Given the description of an element on the screen output the (x, y) to click on. 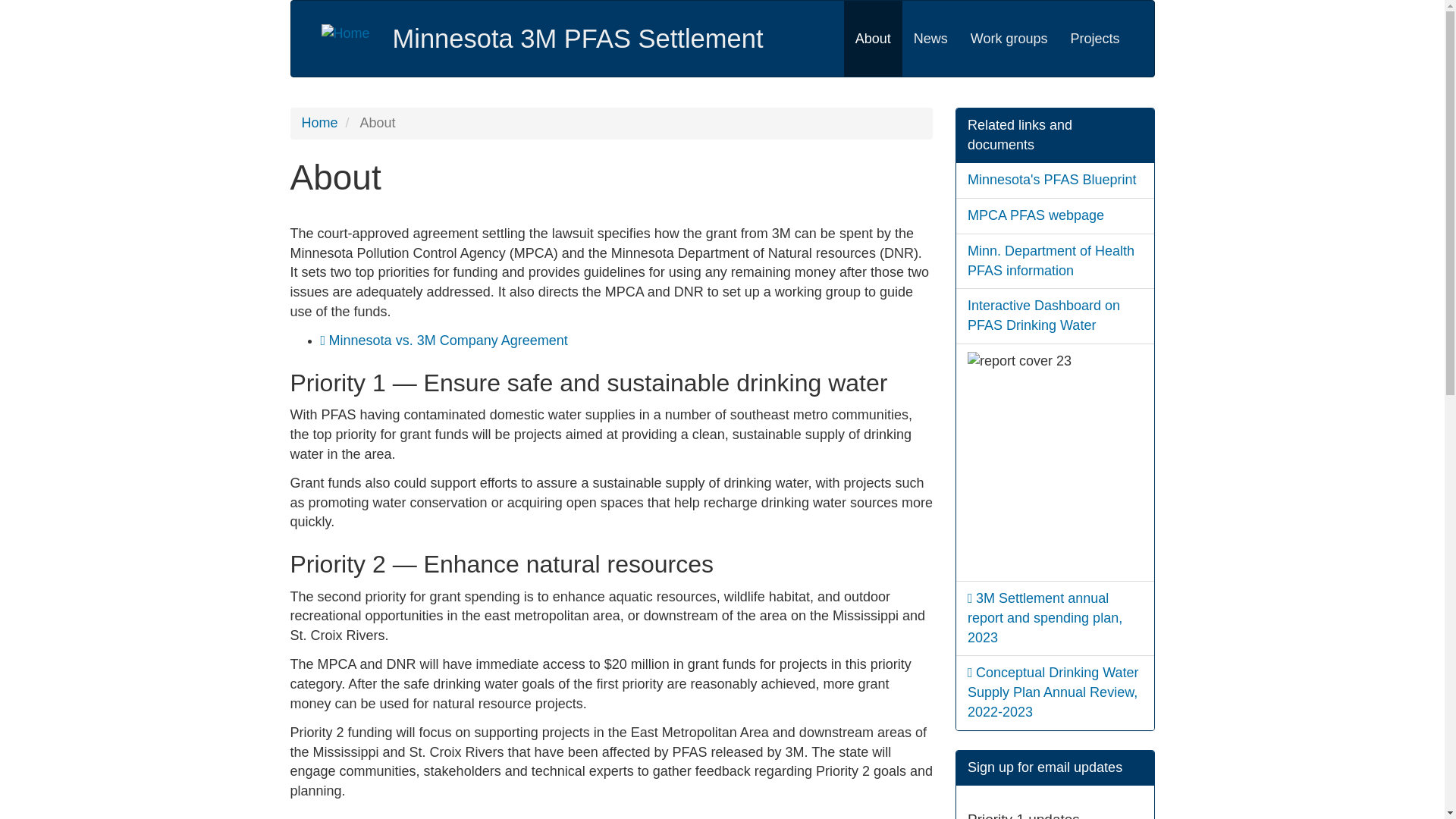
3M Settlement annual report and spending plan, 2023 (1045, 617)
Home (577, 38)
Projects (1094, 38)
MPCA PFAS webpage (1035, 215)
Open file in new window (1045, 617)
Minnesota's PFAS Blueprint (1052, 179)
Open file in new window (448, 340)
Minn. Department of Health PFAS information (1051, 260)
Minnesota vs. 3M Company Agreement (448, 340)
Work groups (1009, 38)
Interactive Dashboard on PFAS Drinking Water (1043, 315)
Minnesota 3M PFAS Settlement (577, 38)
Open file in new window (1053, 692)
